Given the description of an element on the screen output the (x, y) to click on. 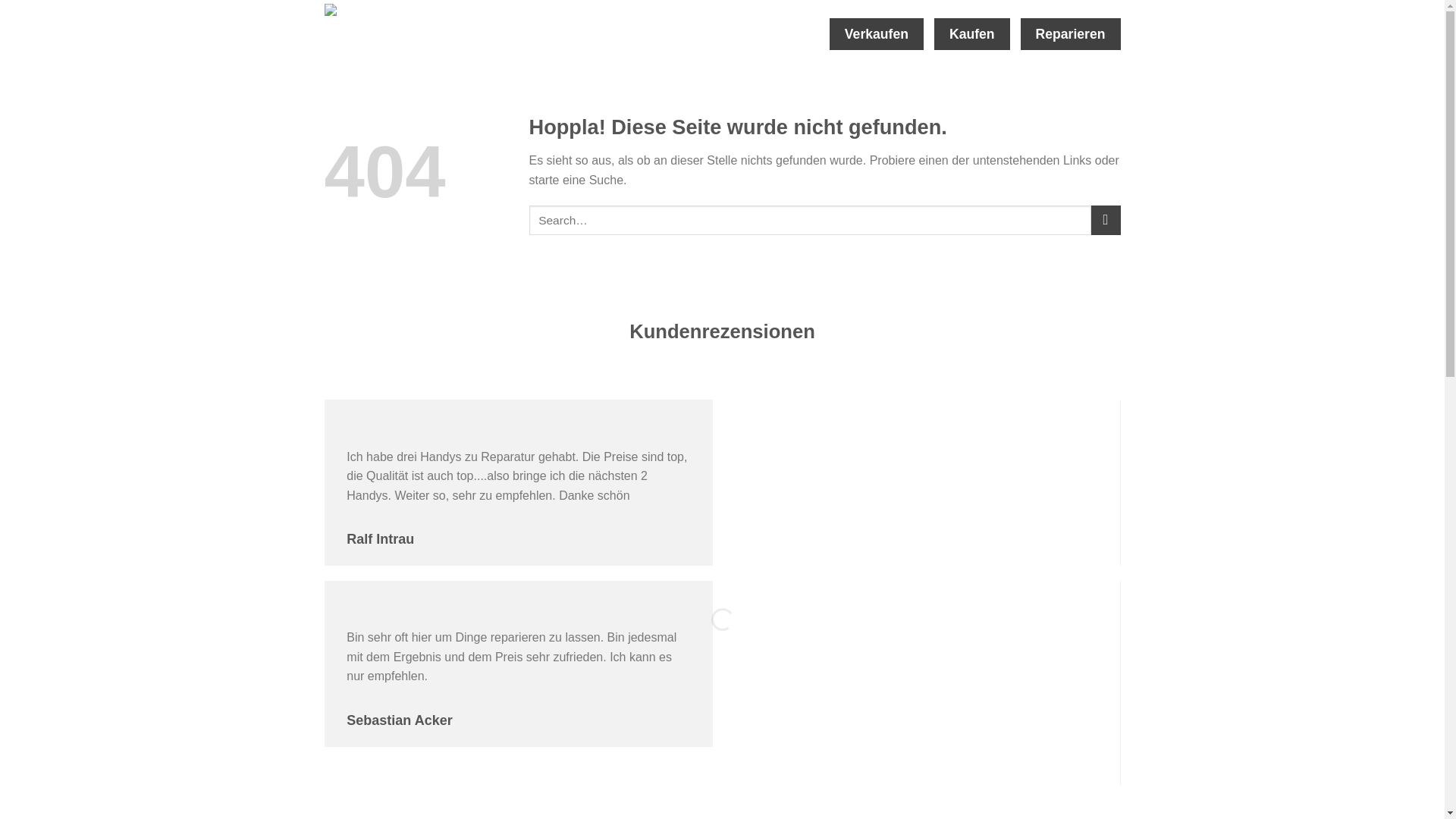
Verkaufen (876, 33)
Reparieren (1070, 33)
TkNuss - Handy und Smartphone Verkaufen (400, 33)
Kaufen (971, 33)
